Given the description of an element on the screen output the (x, y) to click on. 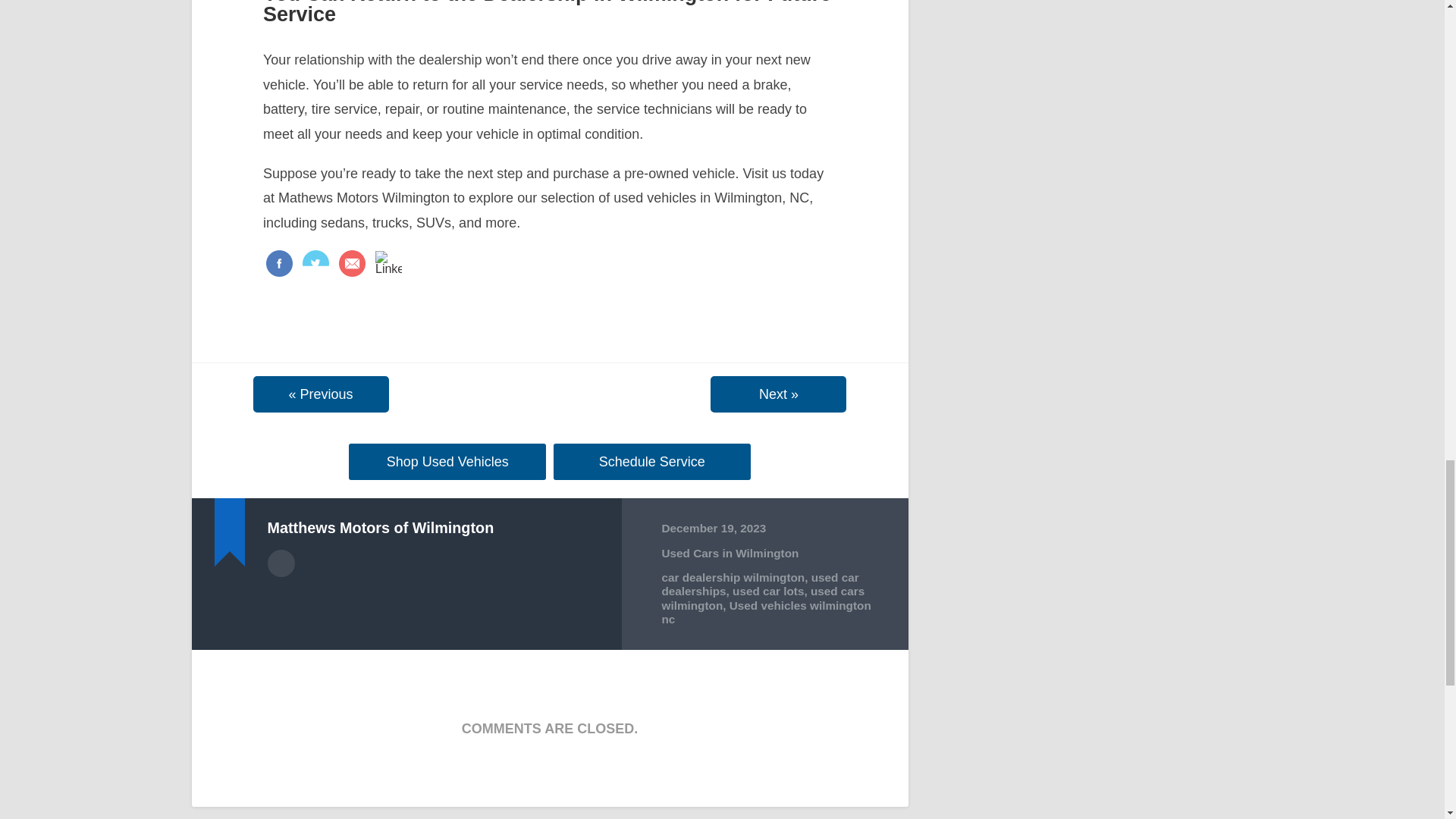
Facebook (279, 264)
Email (349, 264)
Shop Used Vehicles (448, 461)
Used Cars in Wilmington (729, 553)
Used vehicles wilmington nc (765, 611)
used car dealerships (760, 583)
car dealership wilmington (733, 576)
Author archive (280, 563)
used car lots (767, 590)
used cars wilmington (762, 597)
